Given the description of an element on the screen output the (x, y) to click on. 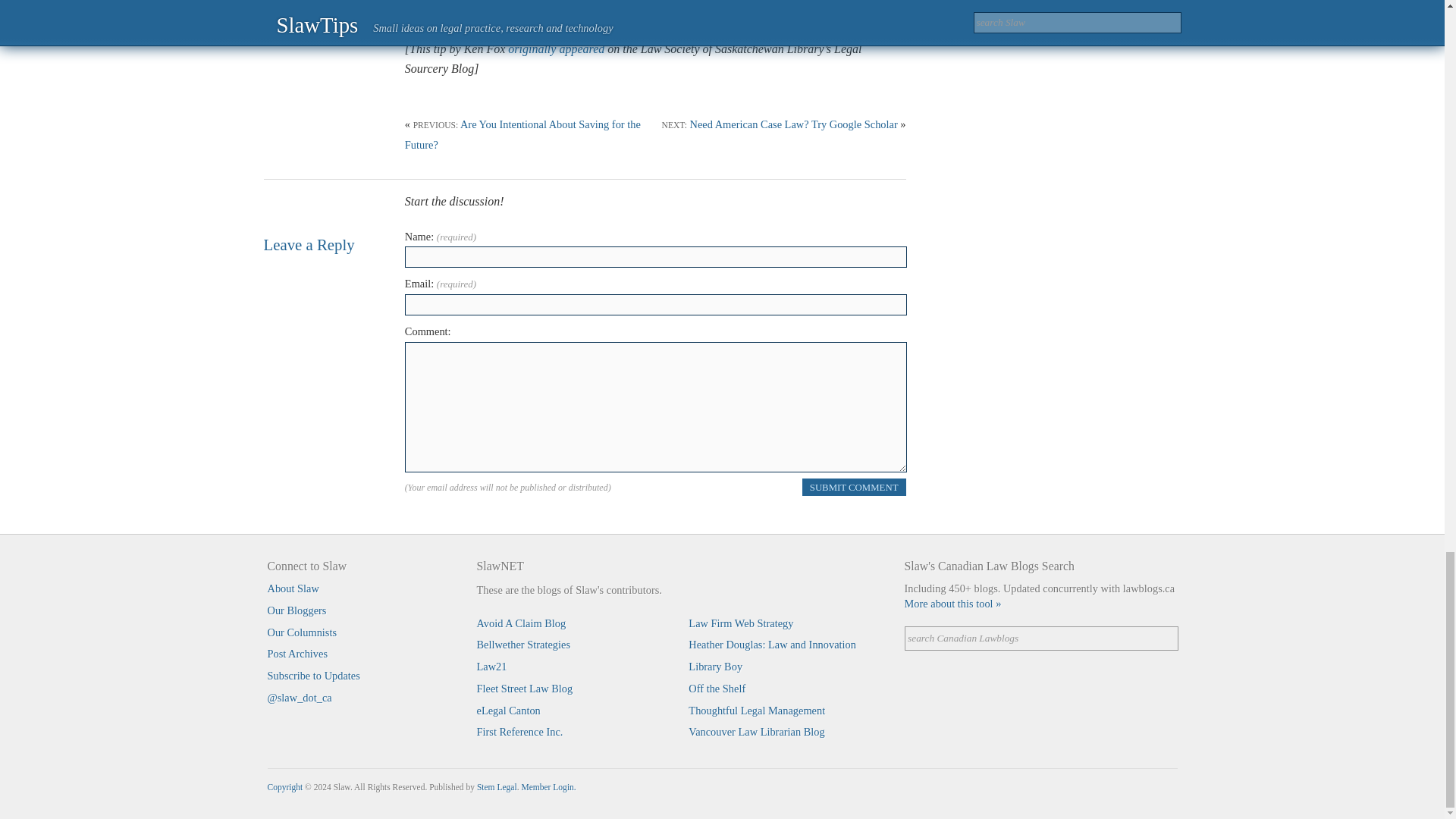
originally appeared (556, 48)
search Canadian Lawblogs (1040, 638)
SUBMIT COMMENT (853, 487)
Need American Case Law? Try Google Scholar (794, 123)
Are You Intentional About Saving for the Future? (522, 133)
